Given the description of an element on the screen output the (x, y) to click on. 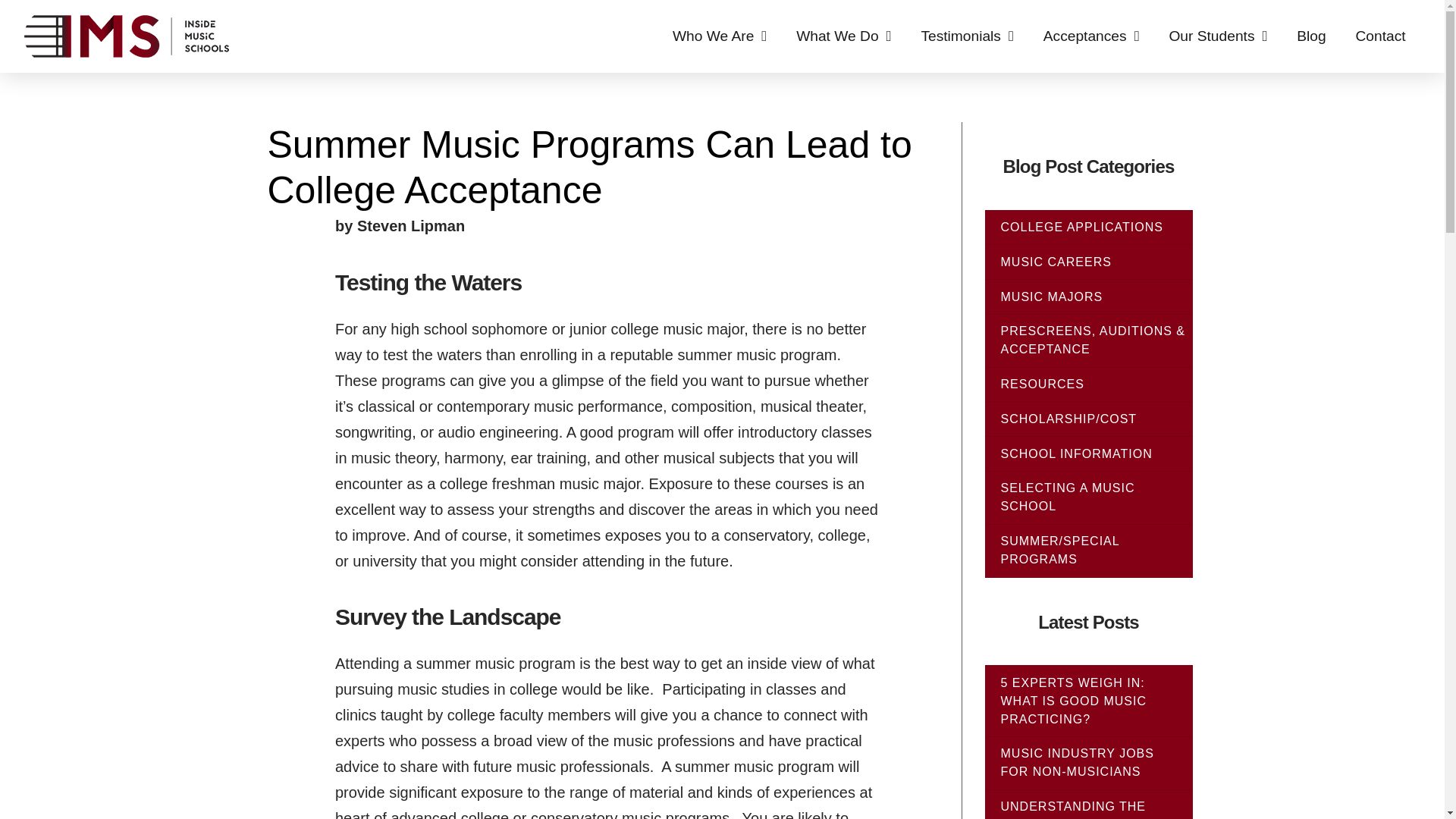
Contact (1380, 36)
Testimonials (966, 36)
Blog (1311, 36)
RESOURCES (1050, 384)
What We Do (843, 36)
UNDERSTANDING THE LINGO OF COLLEGE ADMISSIONS (1074, 809)
MUSIC MAJORS (1059, 297)
Acceptances (1090, 36)
SCHOOL INFORMATION (1084, 454)
Our Students (1218, 36)
